Given the description of an element on the screen output the (x, y) to click on. 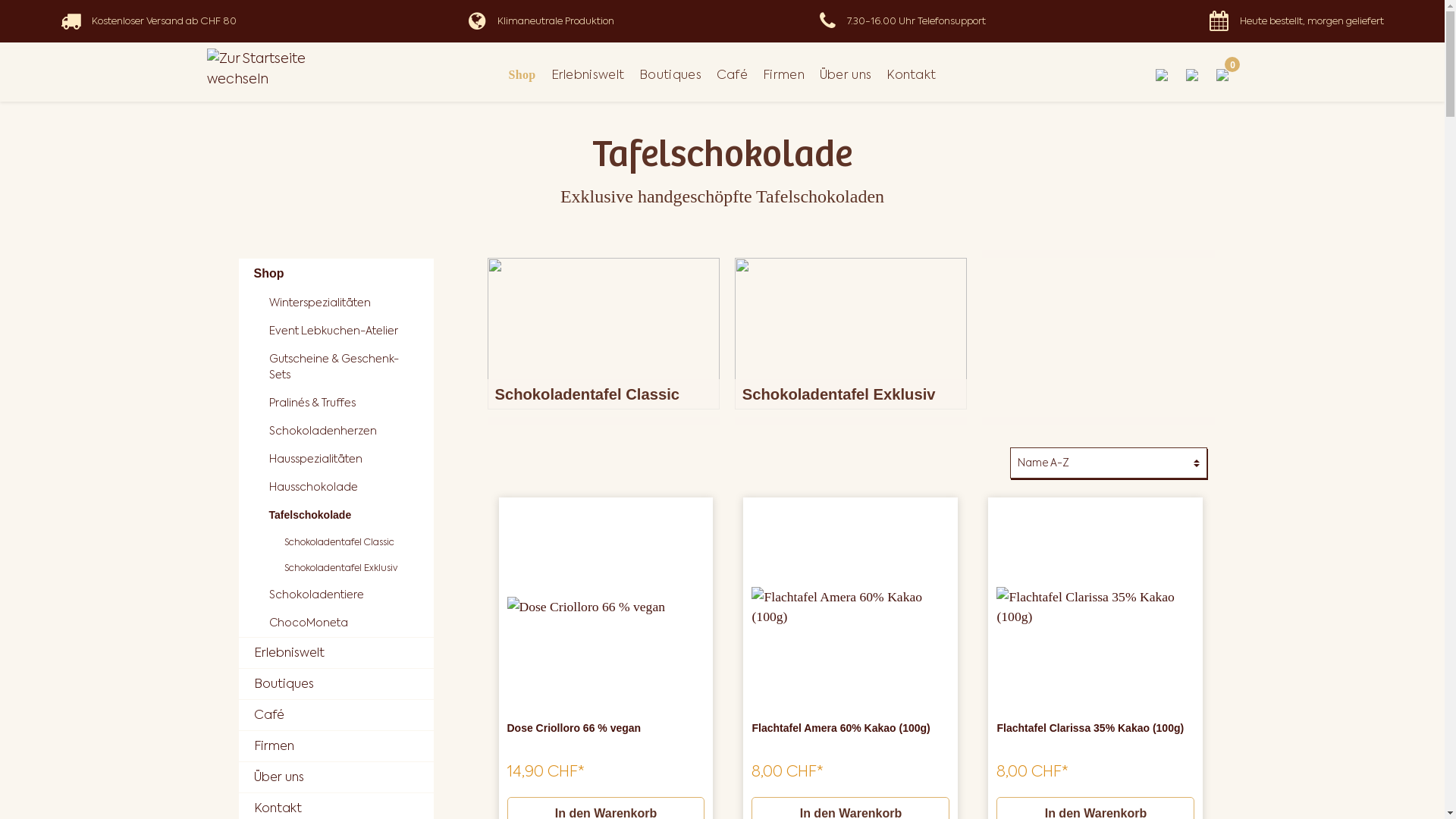
Flachtafel Clarissa 35% Kakao (100g) Element type: hover (1095, 606)
Zur Startseite wechseln Element type: hover (279, 68)
Hausschokolade Element type: text (343, 487)
Flachtafel Clarissa 35% Kakao (100g) Element type: hover (1095, 606)
Erlebniswelt Element type: text (335, 652)
Tafelschokolade Element type: text (343, 515)
Event Lebkuchen-Atelier Element type: text (343, 330)
Boutiques Element type: text (670, 74)
Schokoladentafel Classic Element type: text (602, 333)
Firmen Element type: text (335, 746)
Erlebniswelt Element type: text (587, 74)
Shop Element type: text (335, 273)
Dose Criolloro 66 % vegan Element type: hover (605, 606)
Schokoladentafel Classic Element type: text (350, 542)
Schokoladentiere Element type: text (343, 594)
Flachtafel Amera 60% Kakao (100g) Element type: hover (850, 606)
Dose Criolloro 66 % vegan Element type: text (605, 736)
Shop Element type: text (522, 74)
Dose Criolloro 66 % vegan Element type: hover (605, 606)
Boutiques Element type: text (335, 683)
Flachtafel Amera 60% Kakao (100g) Element type: text (850, 736)
Schokoladentafel Exklusiv Element type: text (350, 567)
Flachtafel Amera 60% Kakao (100g) Element type: hover (850, 606)
Firmen Element type: text (783, 74)
ChocoMoneta Element type: text (343, 622)
0 Element type: text (1222, 74)
Schokoladentafel Exklusiv Element type: text (850, 333)
Schokoladenherzen Element type: text (343, 431)
Flachtafel Clarissa 35% Kakao (100g) Element type: text (1095, 736)
Gutscheine & Geschenk-Sets Element type: text (343, 367)
Kontakt Element type: text (910, 74)
